Given the description of an element on the screen output the (x, y) to click on. 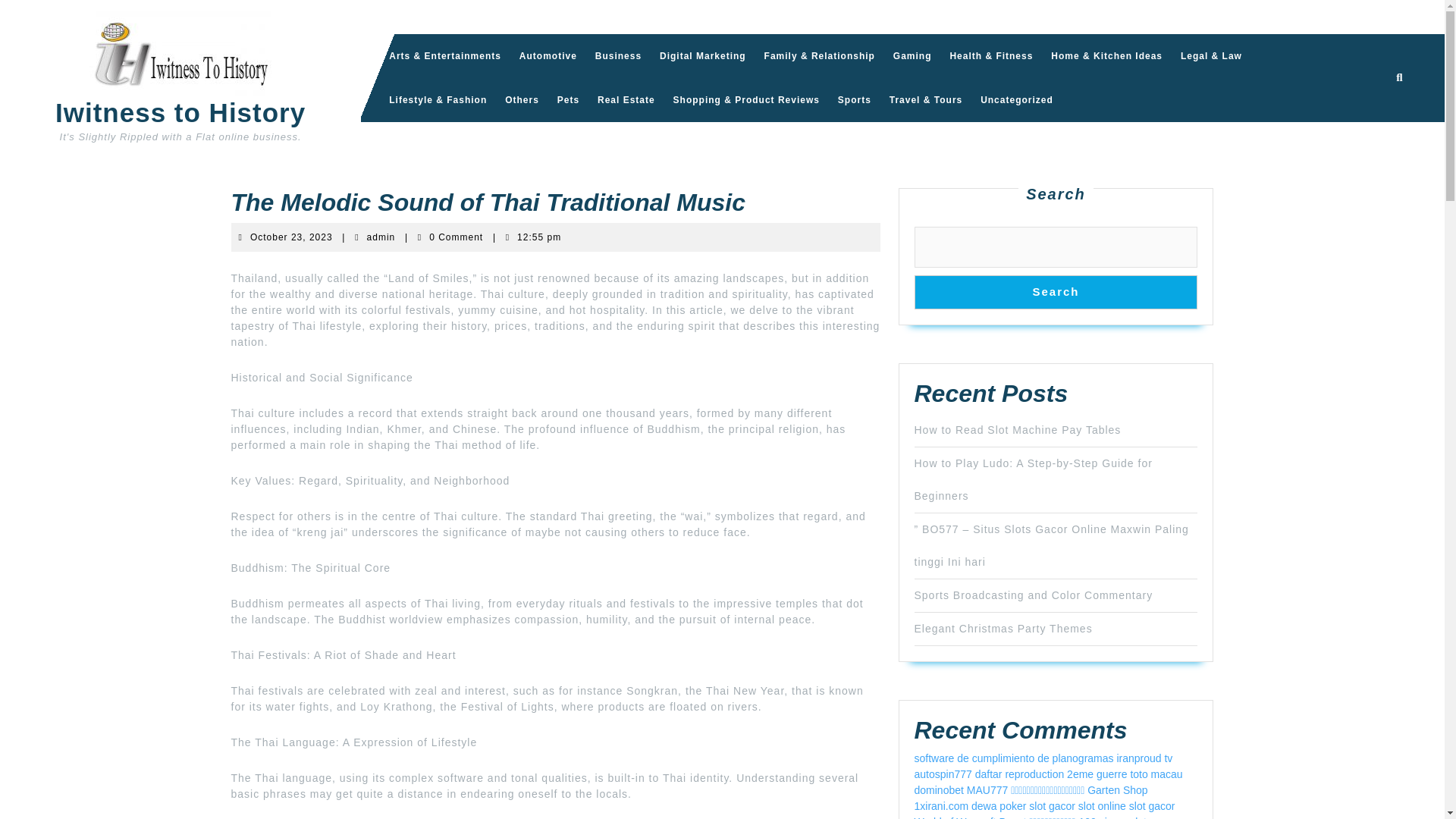
Search (1056, 292)
Business (618, 55)
Others (522, 99)
Digital Marketing (703, 55)
Real Estate (291, 236)
How to Play Ludo: A Step-by-Step Guide for Beginners (625, 99)
Automotive (381, 236)
Gaming (1033, 479)
Sports (548, 55)
Uncategorized (912, 55)
Iwitness to History (854, 99)
How to Read Slot Machine Pay Tables (1016, 99)
